Given the description of an element on the screen output the (x, y) to click on. 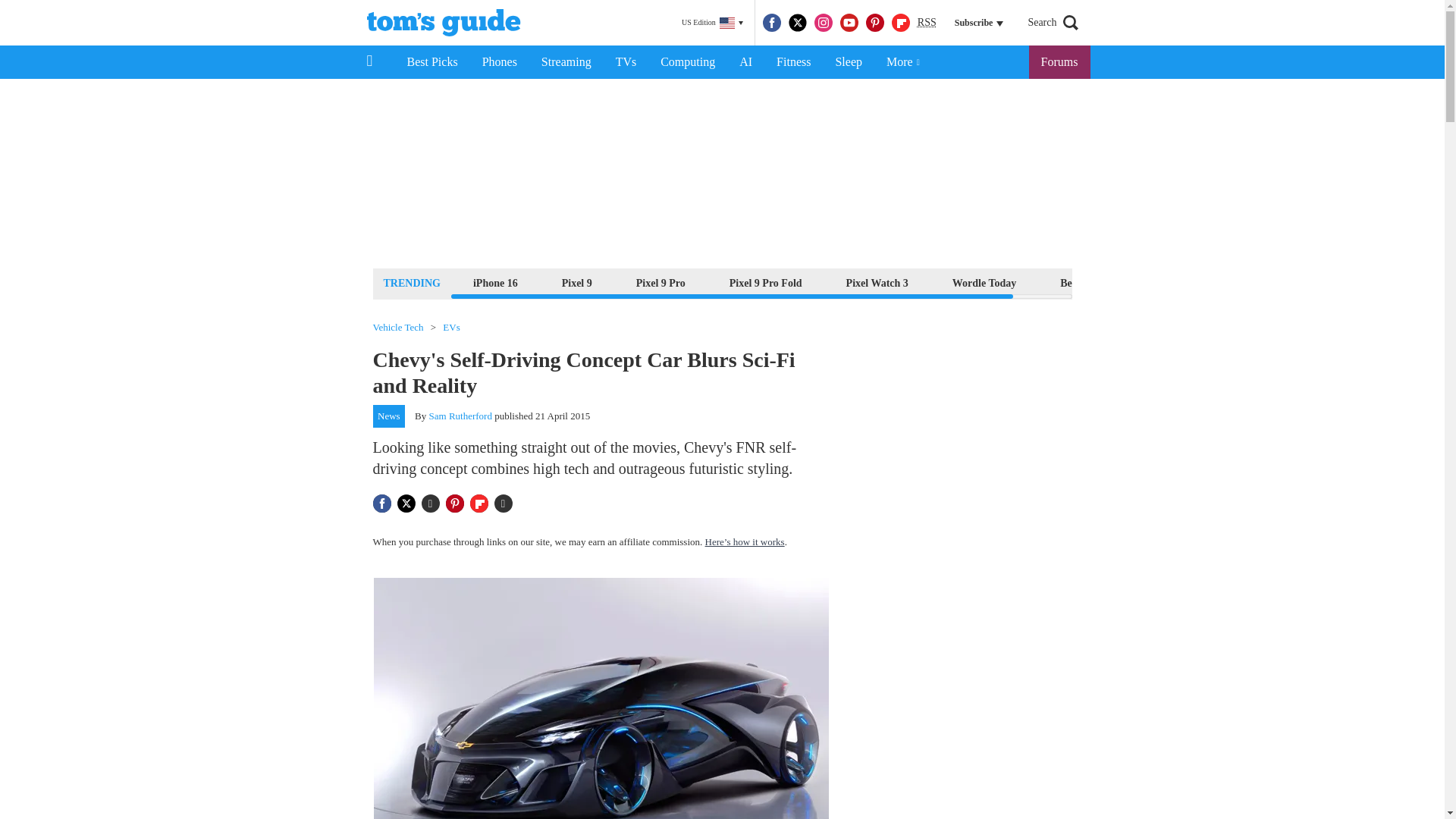
Phones (499, 61)
AI (745, 61)
Sleep (848, 61)
Computing (686, 61)
US Edition (712, 22)
Best Picks (431, 61)
RSS (926, 22)
Streaming (566, 61)
Fitness (793, 61)
Really Simple Syndication (926, 21)
